Given the description of an element on the screen output the (x, y) to click on. 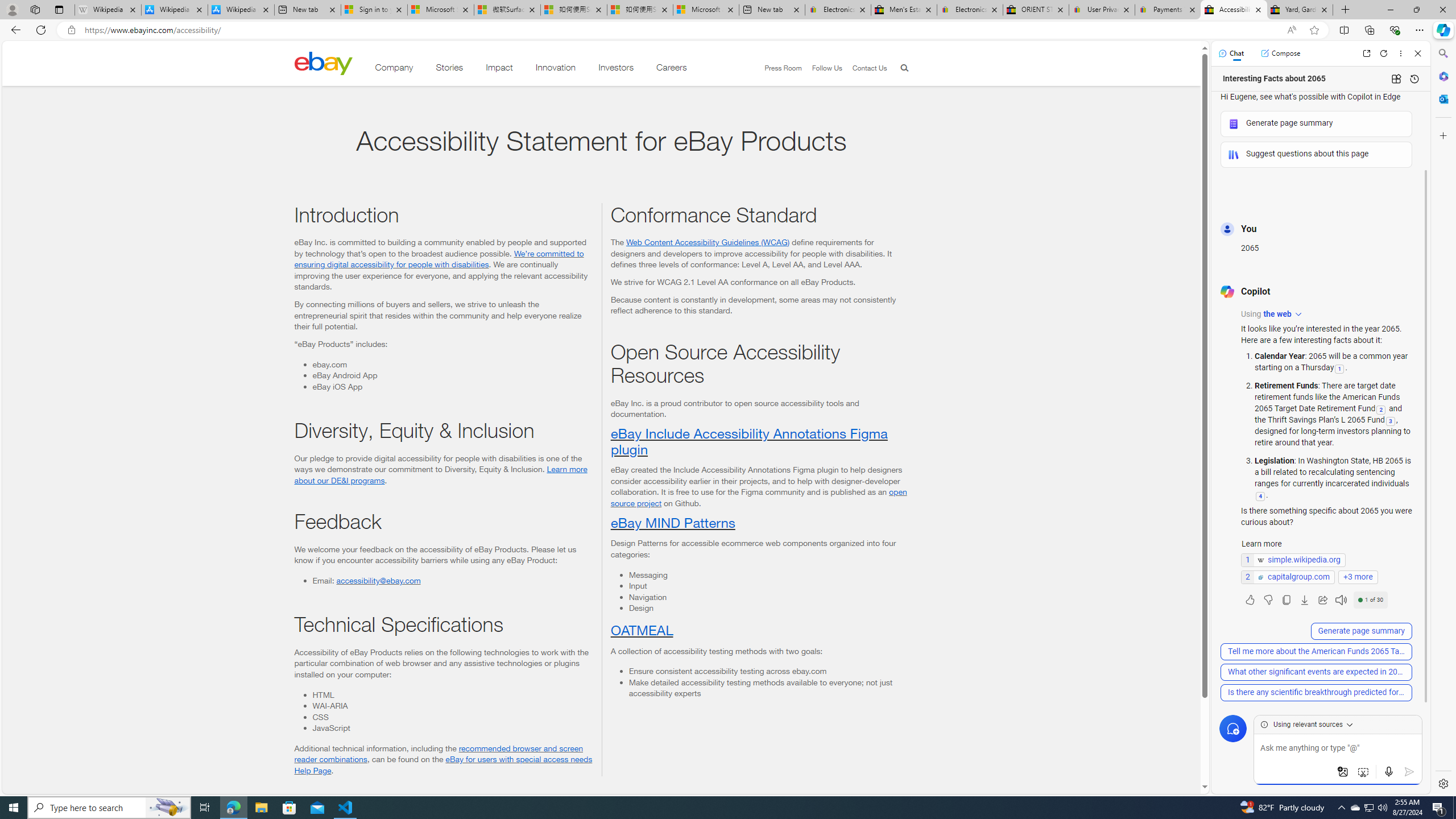
Contact Us (868, 67)
Investors (616, 69)
eBay Include Accessibility Annotations Figma plugin (749, 441)
Innovation (555, 69)
More options (1401, 53)
Investors (616, 69)
Compose (1280, 52)
Careers (671, 69)
